Given the description of an element on the screen output the (x, y) to click on. 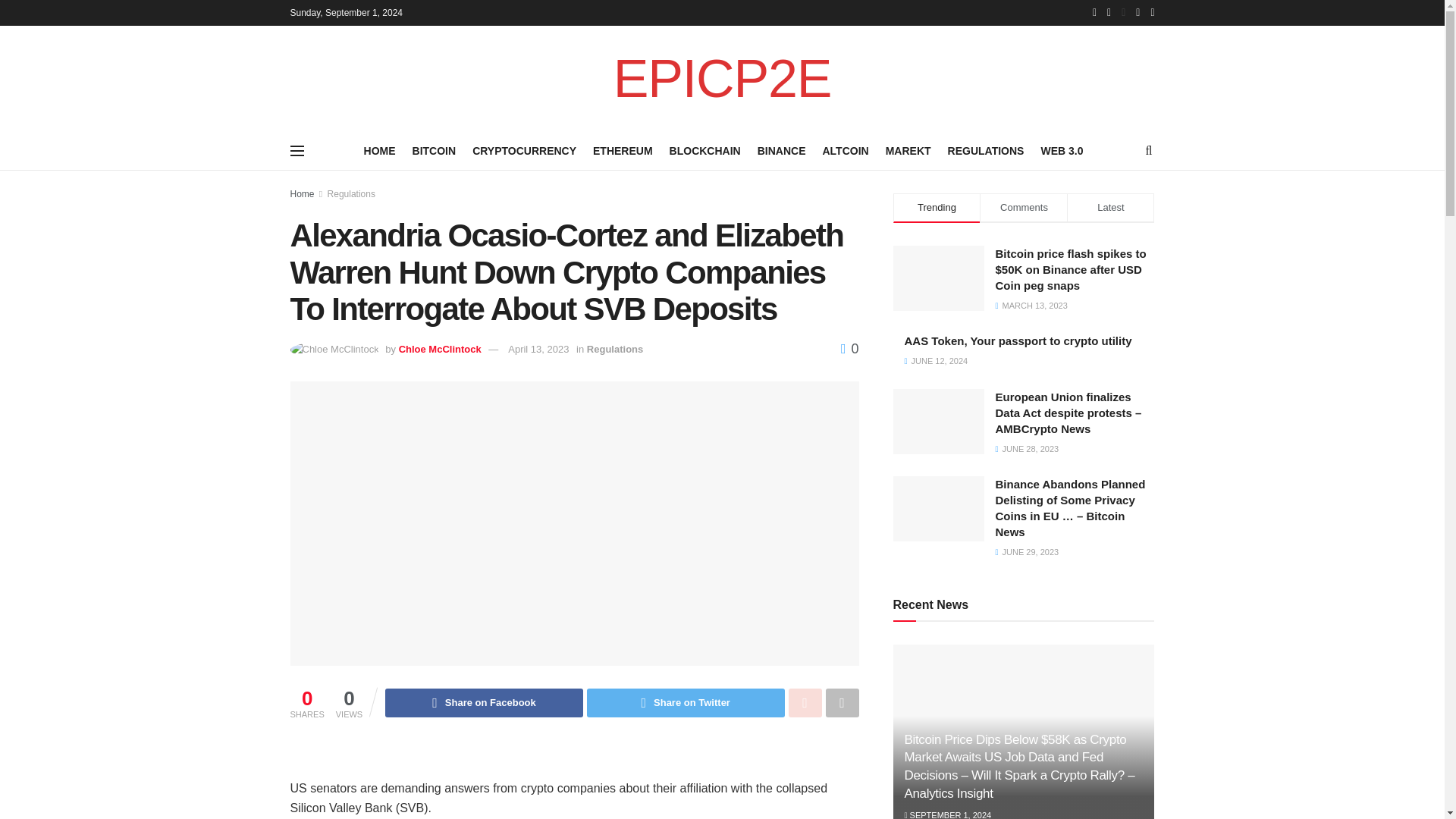
ETHEREUM (622, 150)
Home (301, 194)
MAREKT (908, 150)
EPICP2E (721, 78)
April 13, 2023 (538, 348)
BINANCE (781, 150)
Share on Twitter (685, 702)
ALTCOIN (844, 150)
Regulations (614, 348)
REGULATIONS (986, 150)
